Given the description of an element on the screen output the (x, y) to click on. 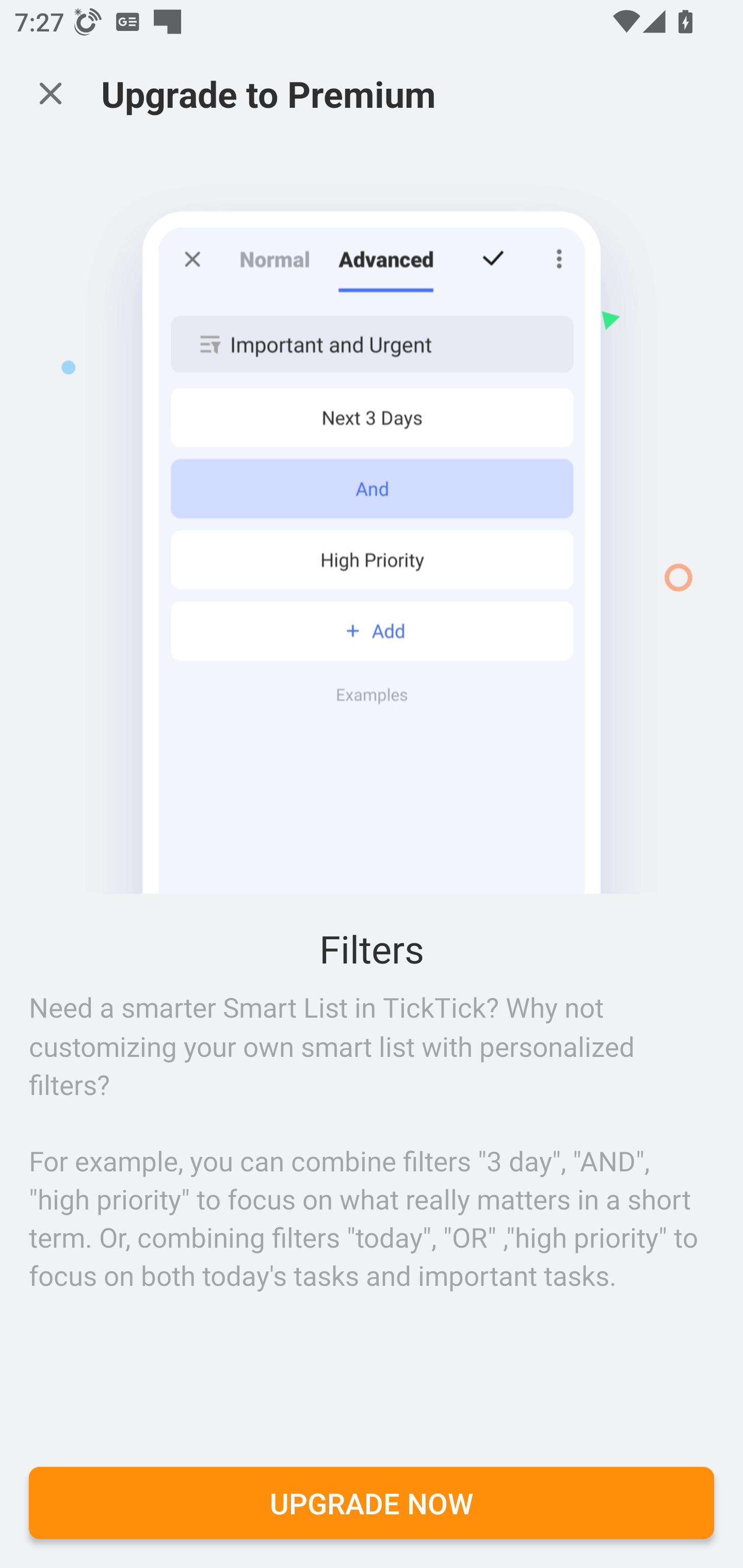
 (50, 93)
UPGRADE NOW (371, 1503)
